Given the description of an element on the screen output the (x, y) to click on. 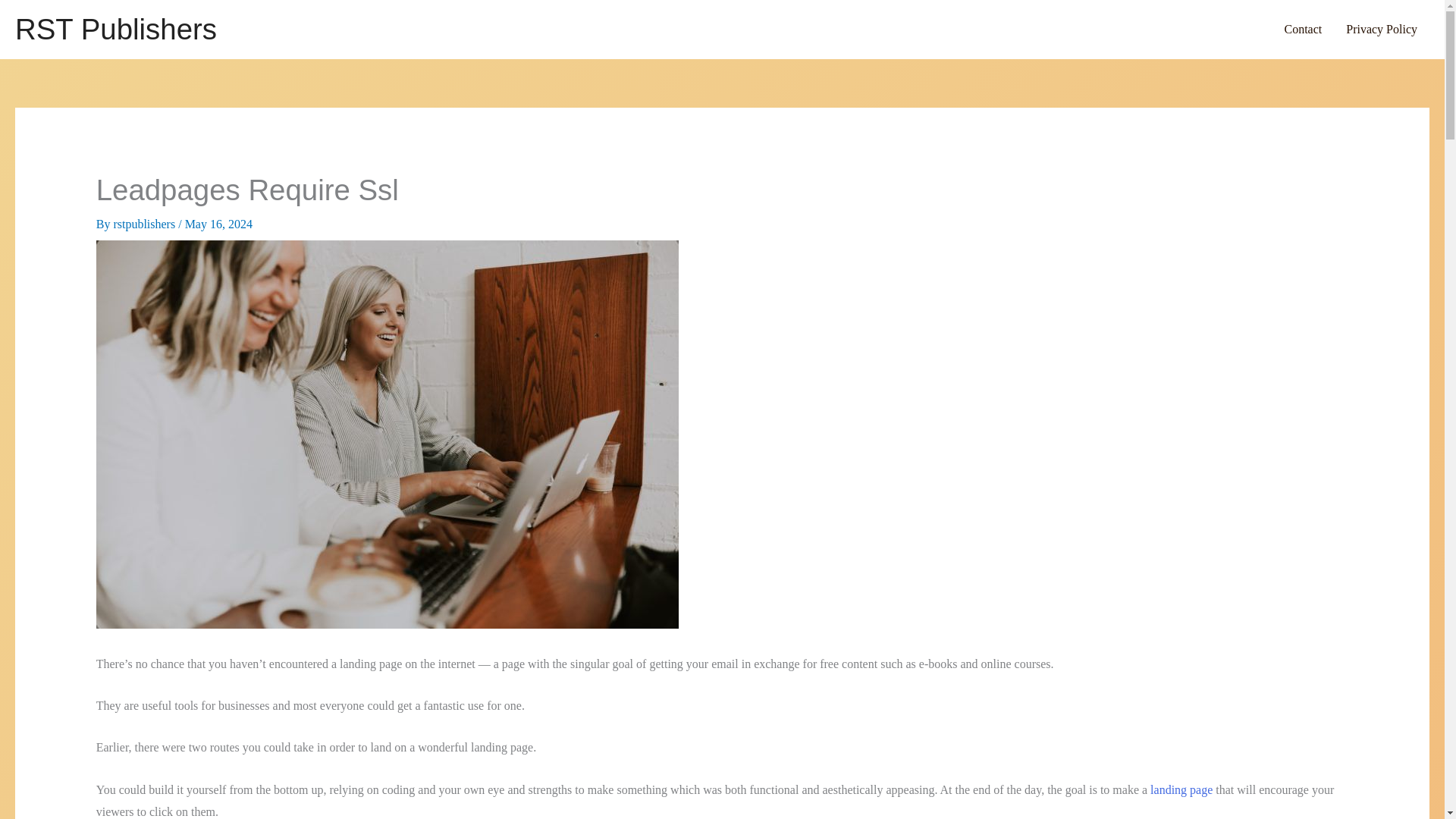
RST Publishers (115, 29)
Contact (1302, 29)
View all posts by rstpublishers (145, 223)
landing page (1181, 789)
rstpublishers (145, 223)
Privacy Policy (1381, 29)
